Given the description of an element on the screen output the (x, y) to click on. 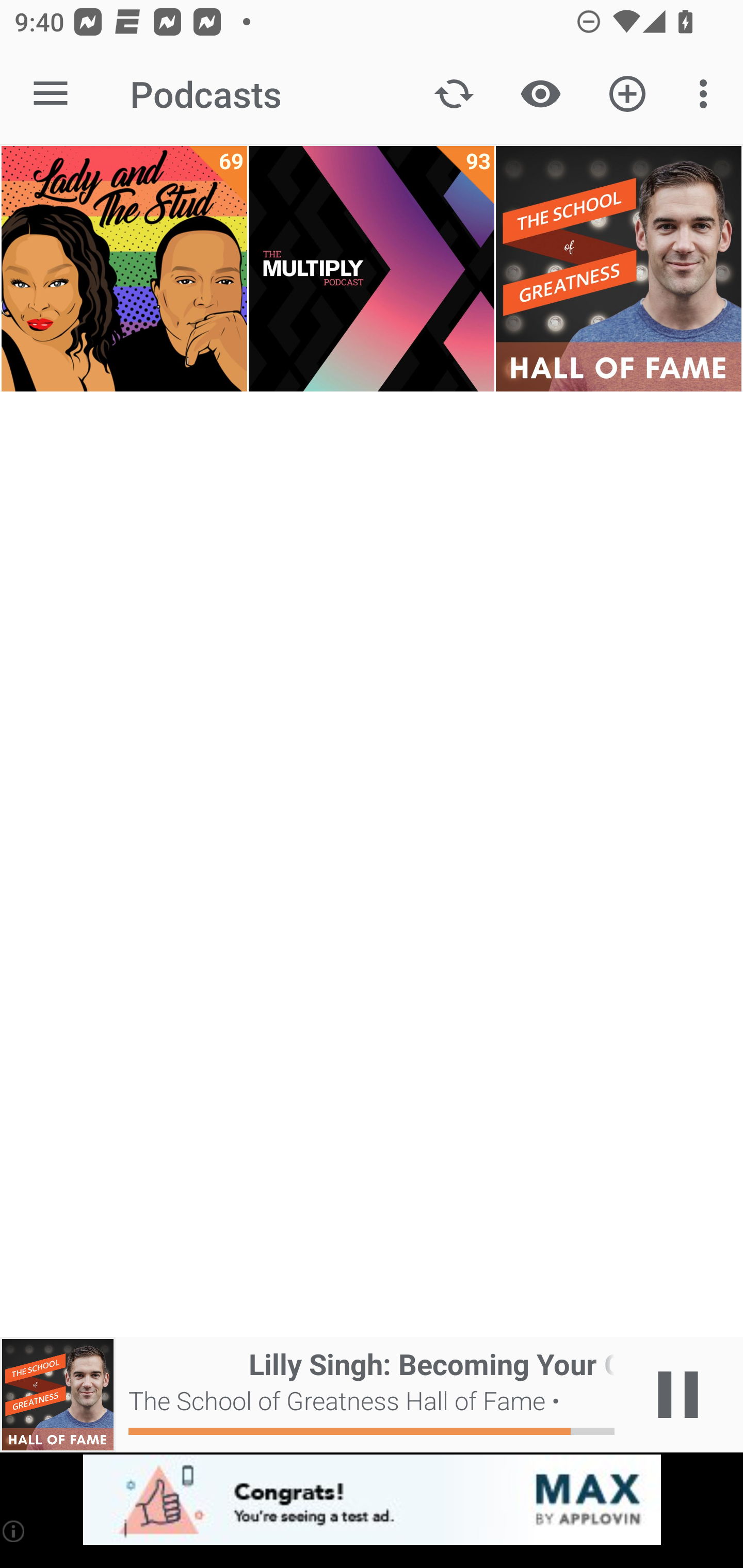
Open navigation sidebar (50, 93)
Update (453, 93)
Show / Hide played content (540, 93)
Add new Podcast (626, 93)
More options (706, 93)
Lady and The Stud 69 (124, 268)
The Multiply Podcast 93 (371, 268)
The School of Greatness Hall of Fame (618, 268)
Play / Pause (677, 1394)
app-monetization (371, 1500)
(i) (14, 1531)
